Given the description of an element on the screen output the (x, y) to click on. 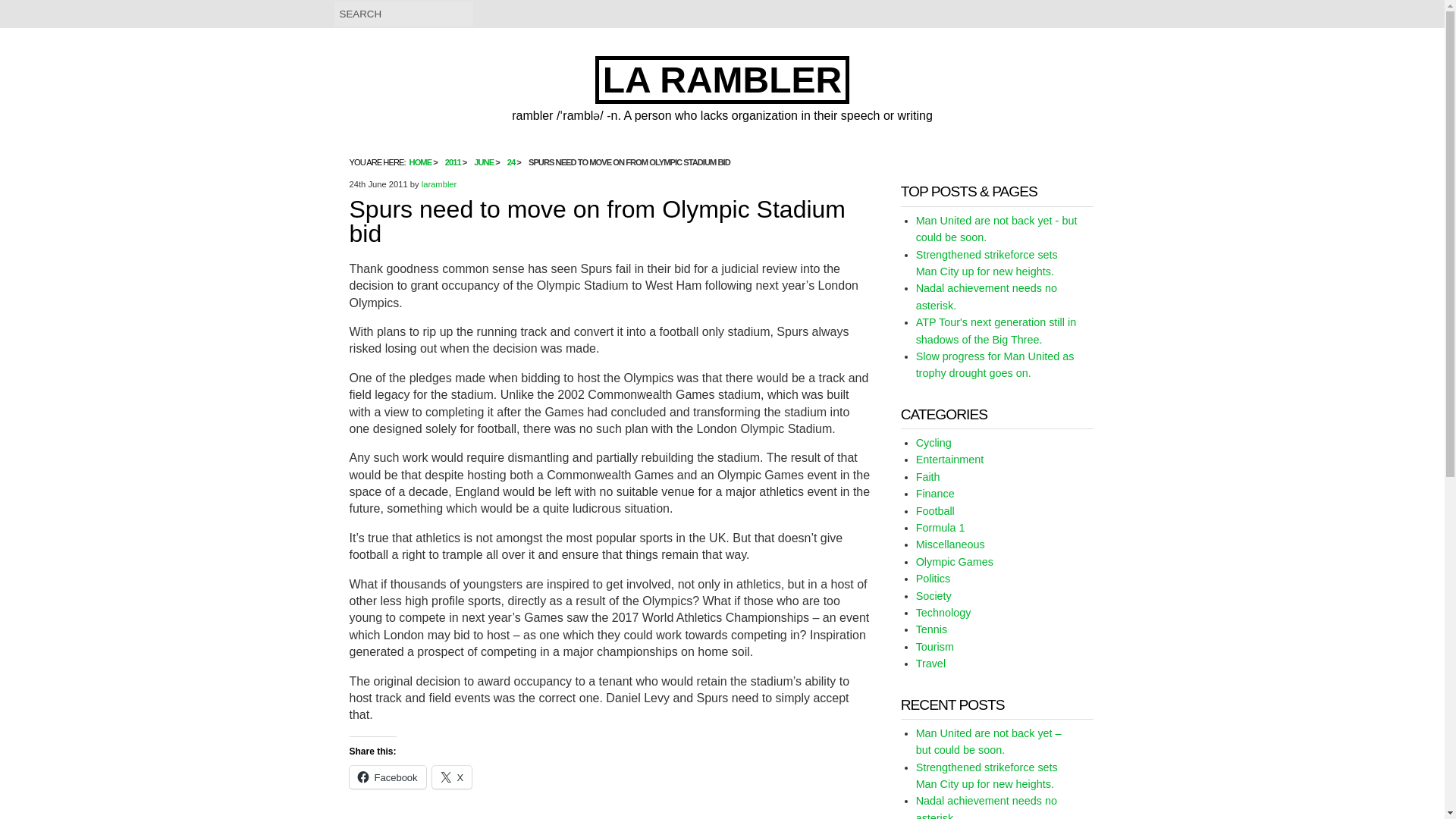
Strengthened strikeforce sets Man City up for new heights. (986, 262)
Nadal achievement needs no asterisk. (986, 296)
Travel (929, 663)
Strengthened strikeforce sets Man City up for new heights. (986, 775)
Posts by larambler (439, 184)
Politics (932, 578)
LA RAMBLER (722, 80)
Click to share on Facebook (387, 776)
2011 (453, 162)
Slow progress for Man United as trophy drought goes on. (994, 364)
